Given the description of an element on the screen output the (x, y) to click on. 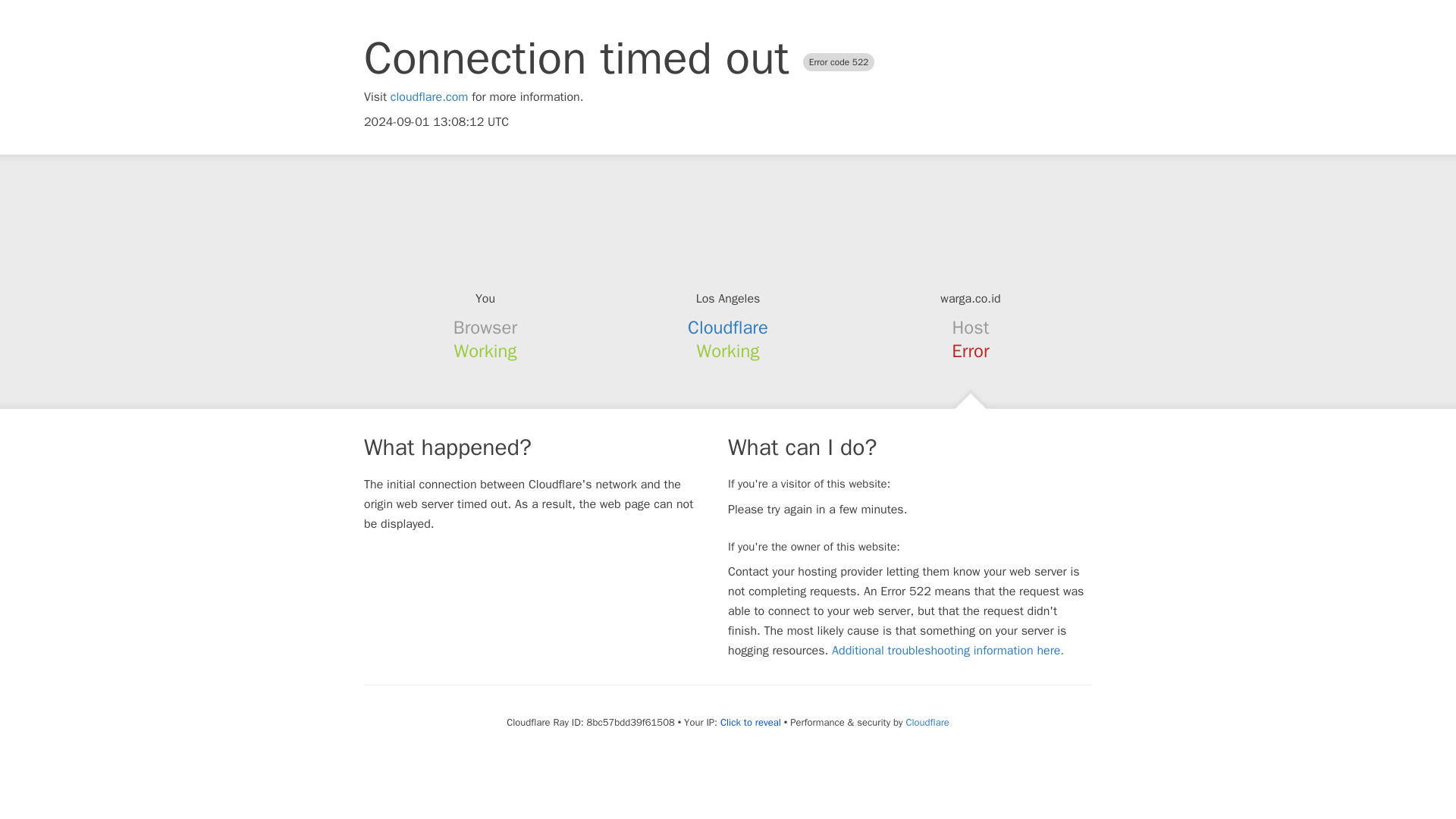
cloudflare.com (429, 96)
Cloudflare (727, 327)
Additional troubleshooting information here. (947, 650)
Cloudflare (927, 721)
Click to reveal (750, 722)
